Given the description of an element on the screen output the (x, y) to click on. 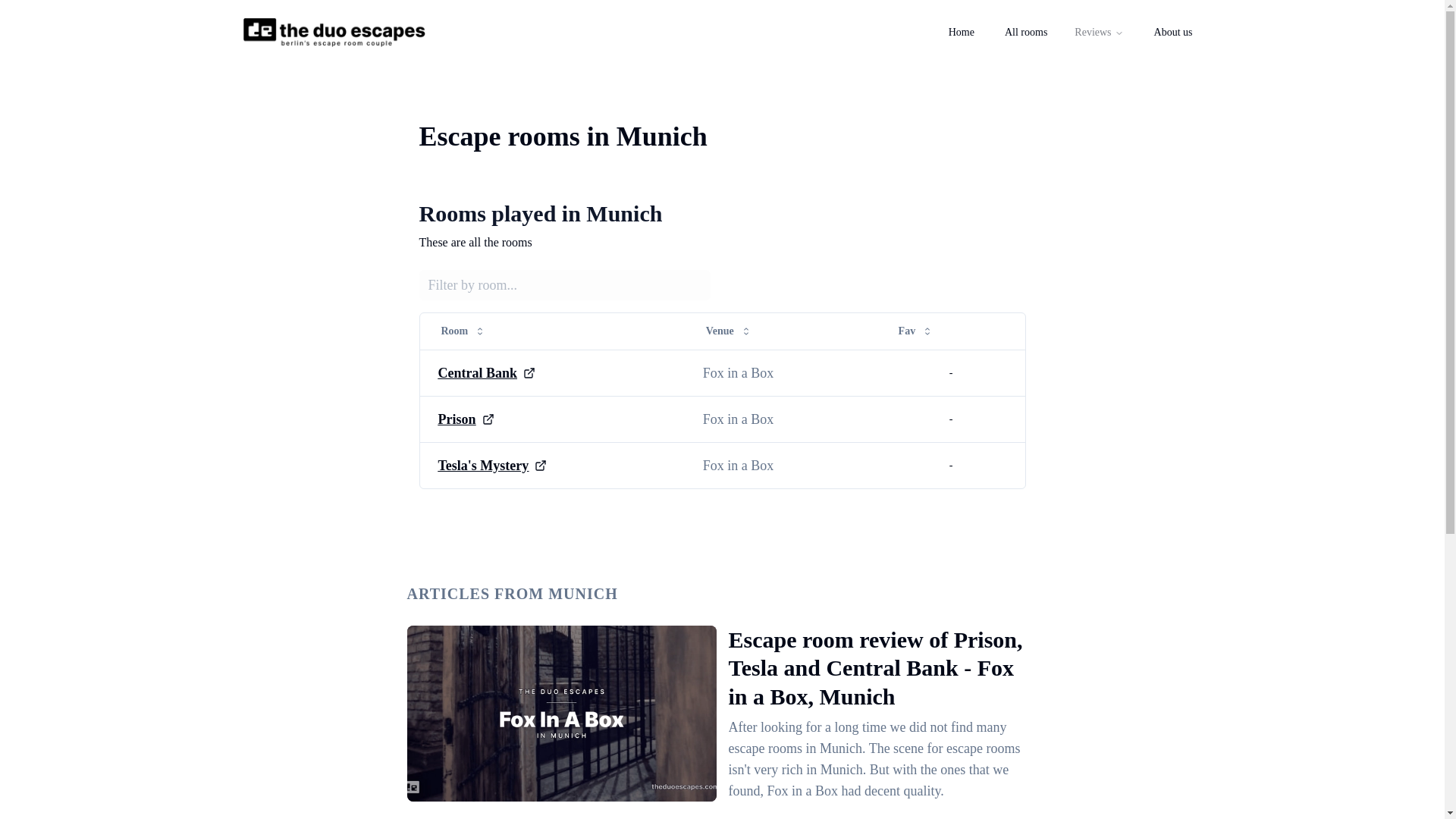
About us (1173, 32)
Tesla's Mystery (483, 465)
Reviews (1098, 32)
Prison (457, 418)
All rooms (1026, 32)
Home (961, 32)
Central Bank (478, 373)
